Given the description of an element on the screen output the (x, y) to click on. 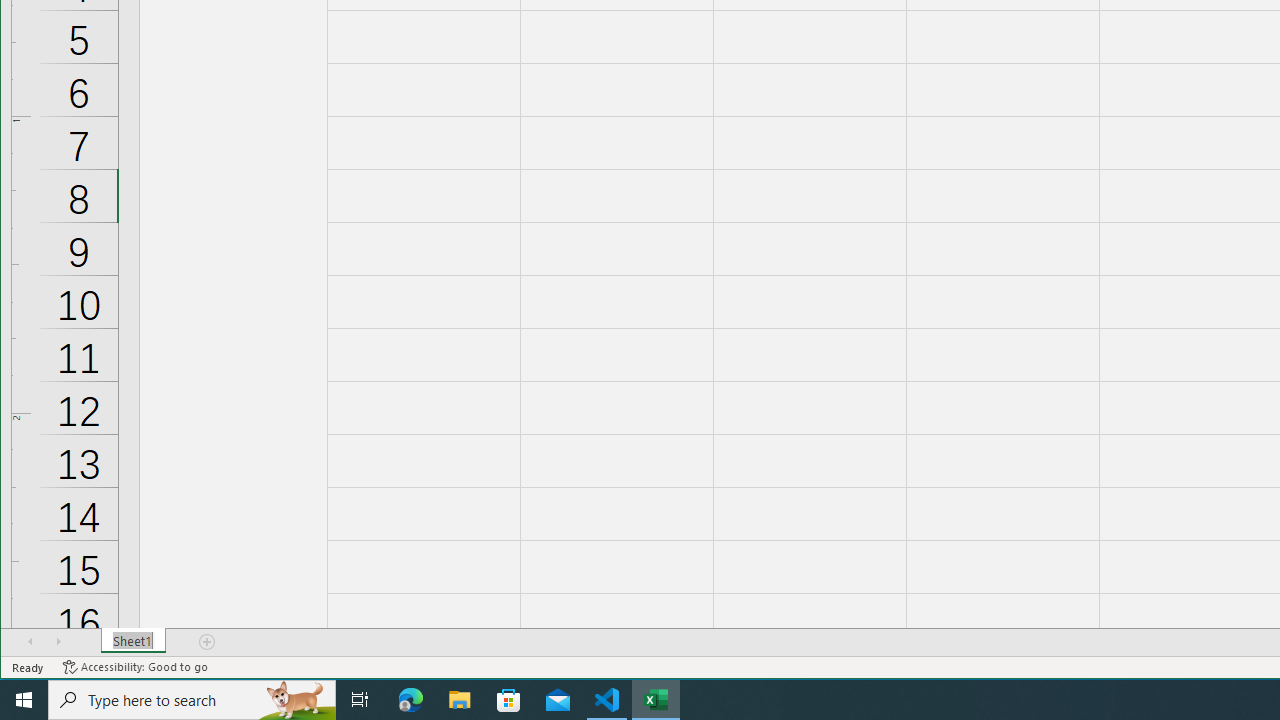
Excel - 1 running window (656, 699)
